Given the description of an element on the screen output the (x, y) to click on. 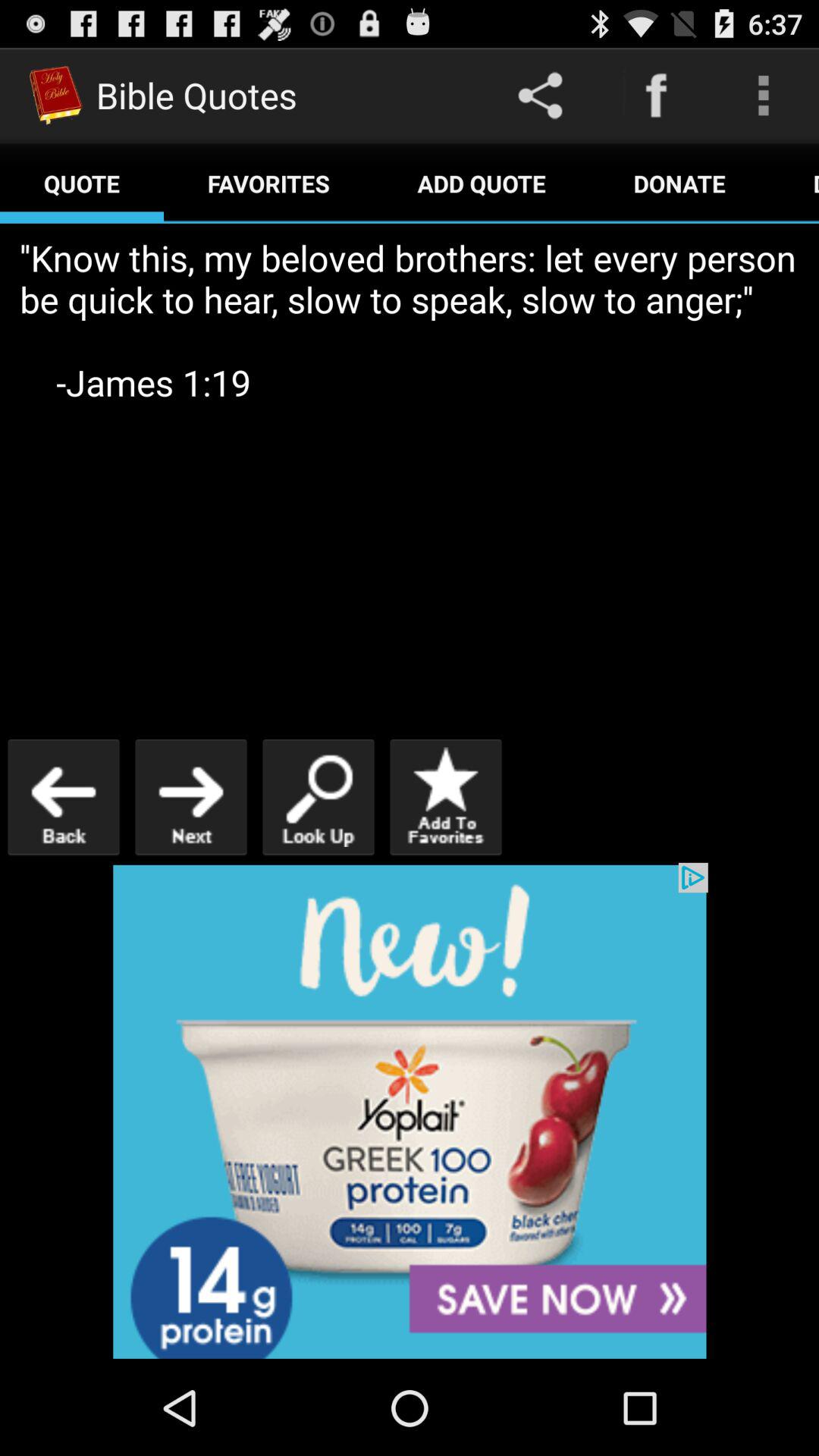
view advertisement (409, 1111)
